Given the description of an element on the screen output the (x, y) to click on. 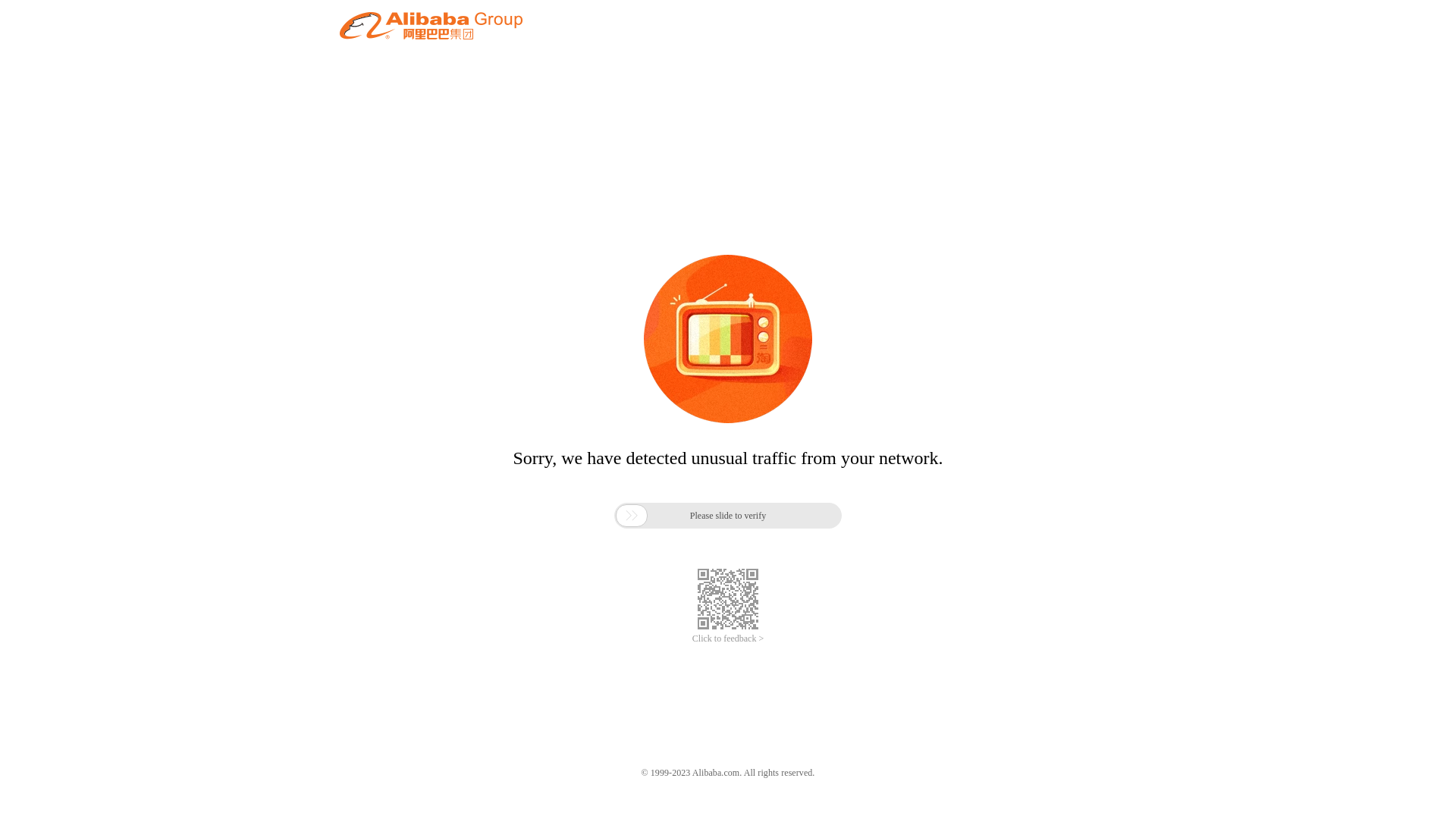
Click to feedback > Element type: text (727, 638)
